Given the description of an element on the screen output the (x, y) to click on. 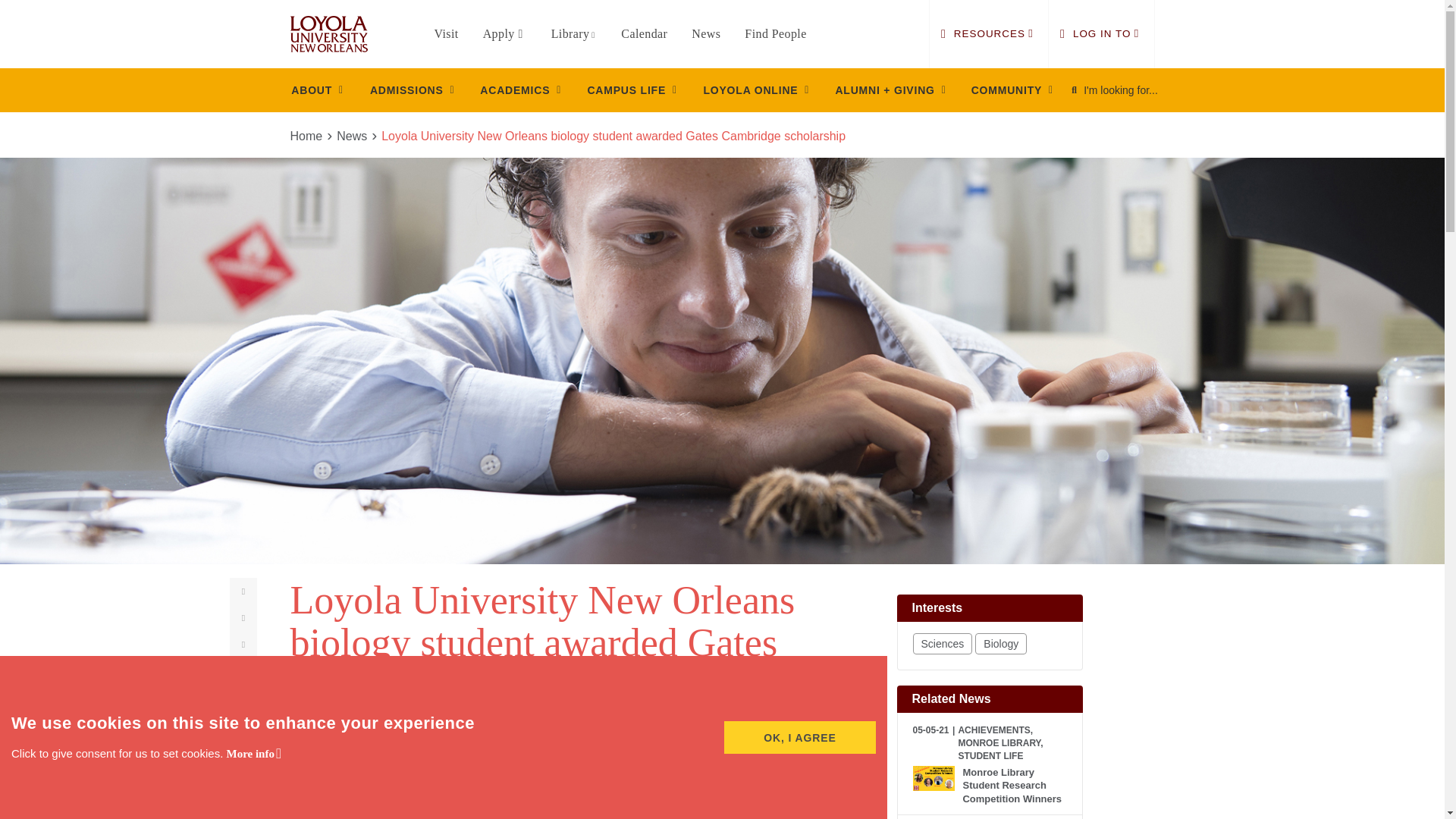
Find People (775, 33)
Loyola University New Orleans Home (327, 34)
Email (246, 648)
Apply (505, 33)
Enter the terms you wish to search for. (1125, 90)
News (705, 33)
Calendar (643, 33)
ABOUT (317, 89)
RESOURCES (989, 33)
Library (573, 33)
LOG IN TO (1100, 33)
Visit (445, 33)
News (323, 100)
